Given the description of an element on the screen output the (x, y) to click on. 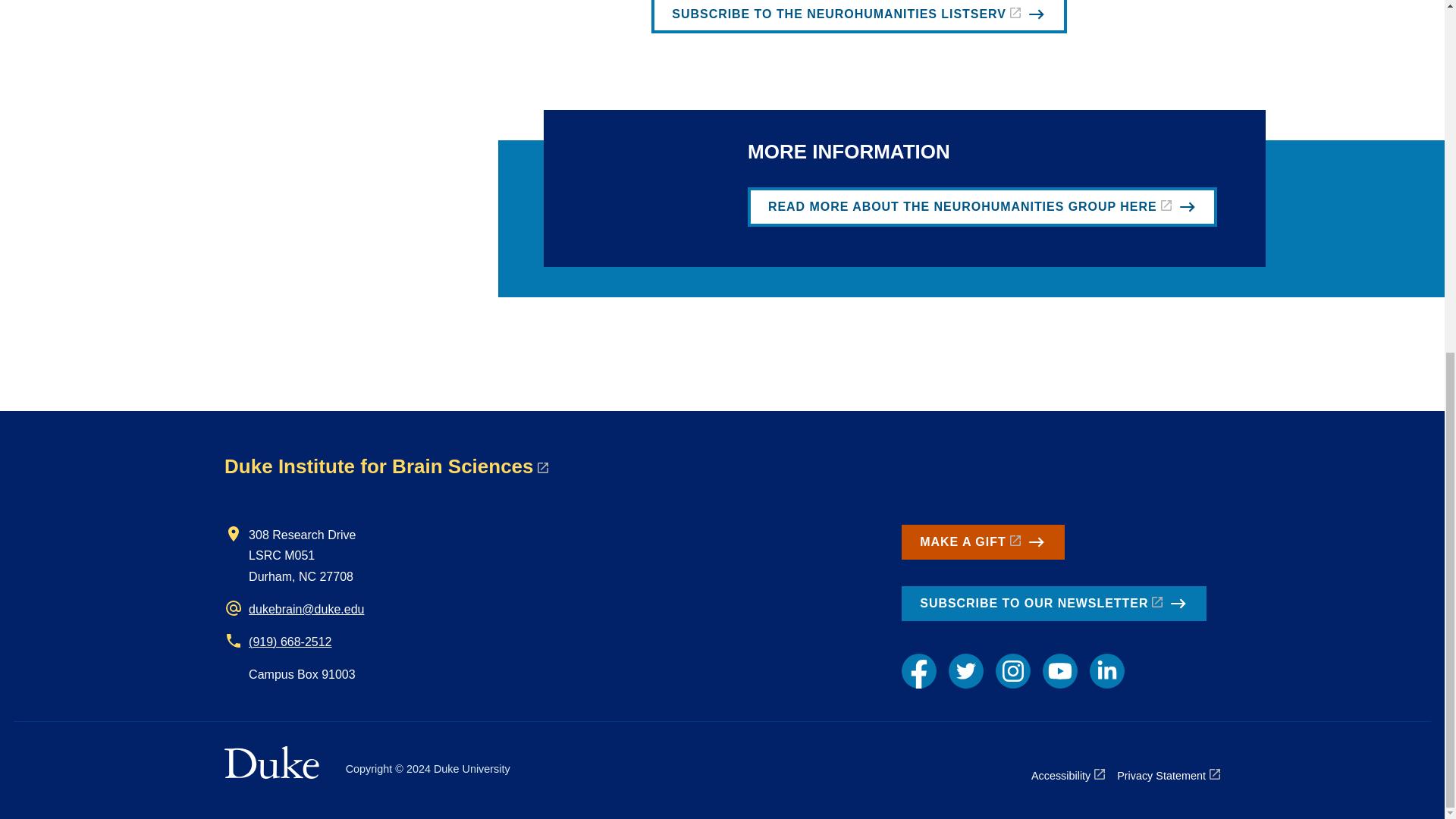
Privacy Statement (1168, 775)
Twitter link (966, 670)
SUBSCRIBE TO THE NEUROHUMANITIES LISTSERV (857, 17)
READ MORE ABOUT THE NEUROHUMANITIES GROUP HERE (982, 206)
SUBSCRIBE TO OUR NEWSLETTER (1054, 603)
Instagram link (1012, 670)
Facebook link (918, 670)
Duke Institute for Brain Sciences (385, 466)
Accessibility (1067, 775)
MAKE A GIFT (982, 541)
